Given the description of an element on the screen output the (x, y) to click on. 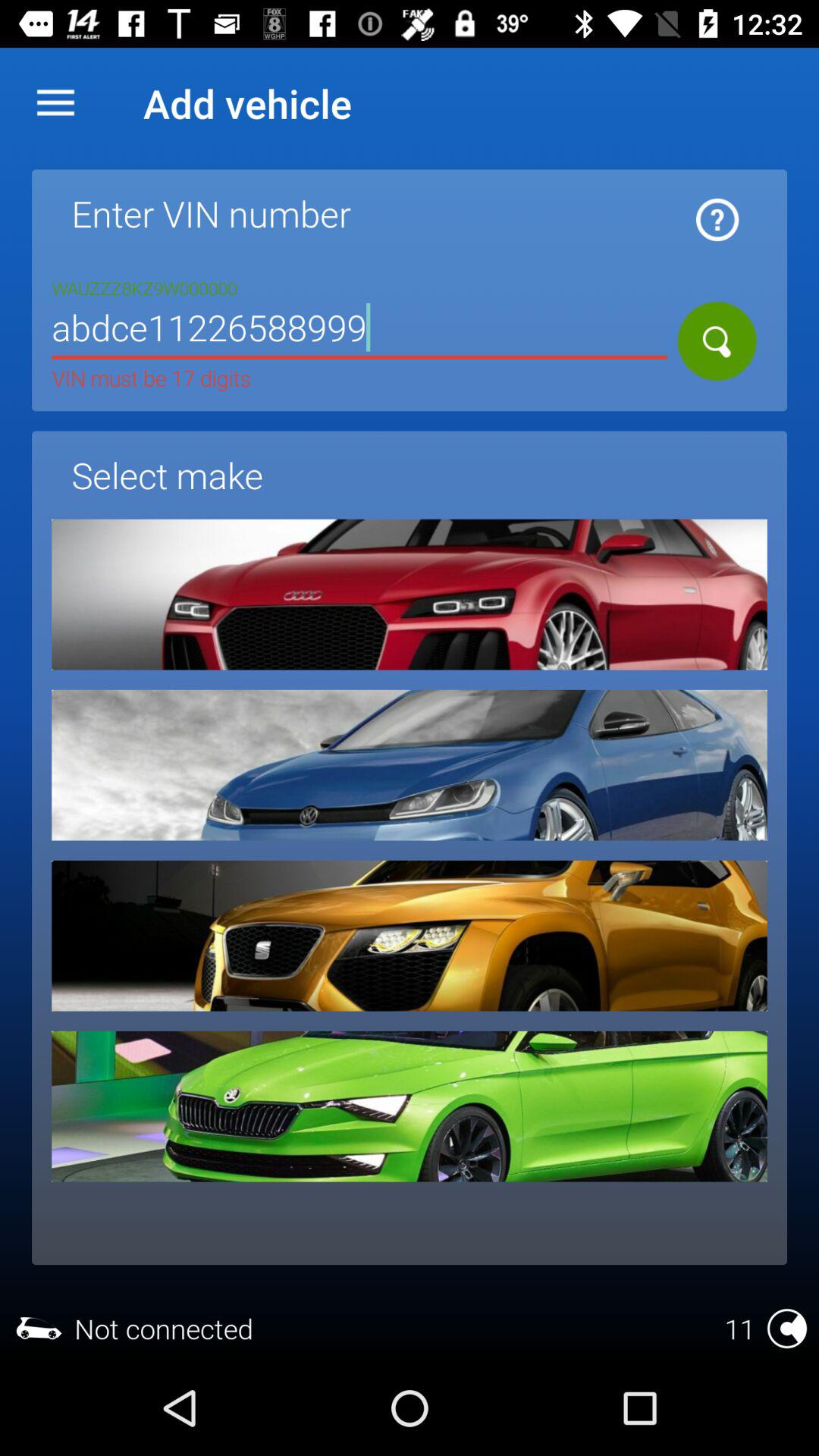
select this vehicle (409, 1106)
